Given the description of an element on the screen output the (x, y) to click on. 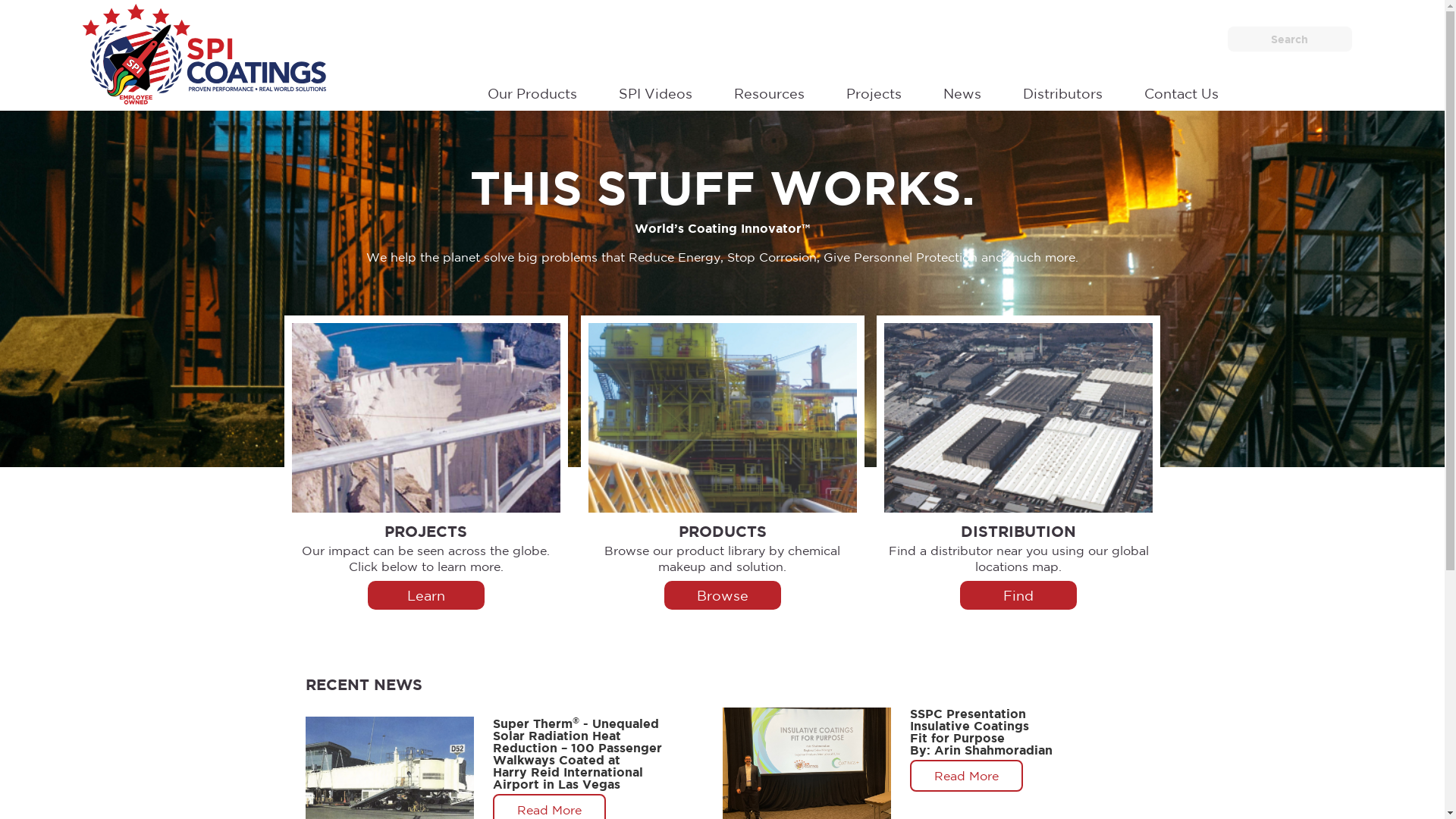
Find Element type: text (1018, 594)
Contact Us Element type: text (1181, 90)
Projects Element type: text (873, 90)
News Element type: text (961, 90)
Resources Element type: text (768, 90)
? Element type: text (7, 9)
Distributors Element type: text (1062, 90)
Browse Element type: text (722, 594)
Learn Element type: text (425, 594)
Our Products Element type: text (532, 90)
Read More Element type: text (966, 775)
SPI Videos Element type: text (655, 90)
